Given the description of an element on the screen output the (x, y) to click on. 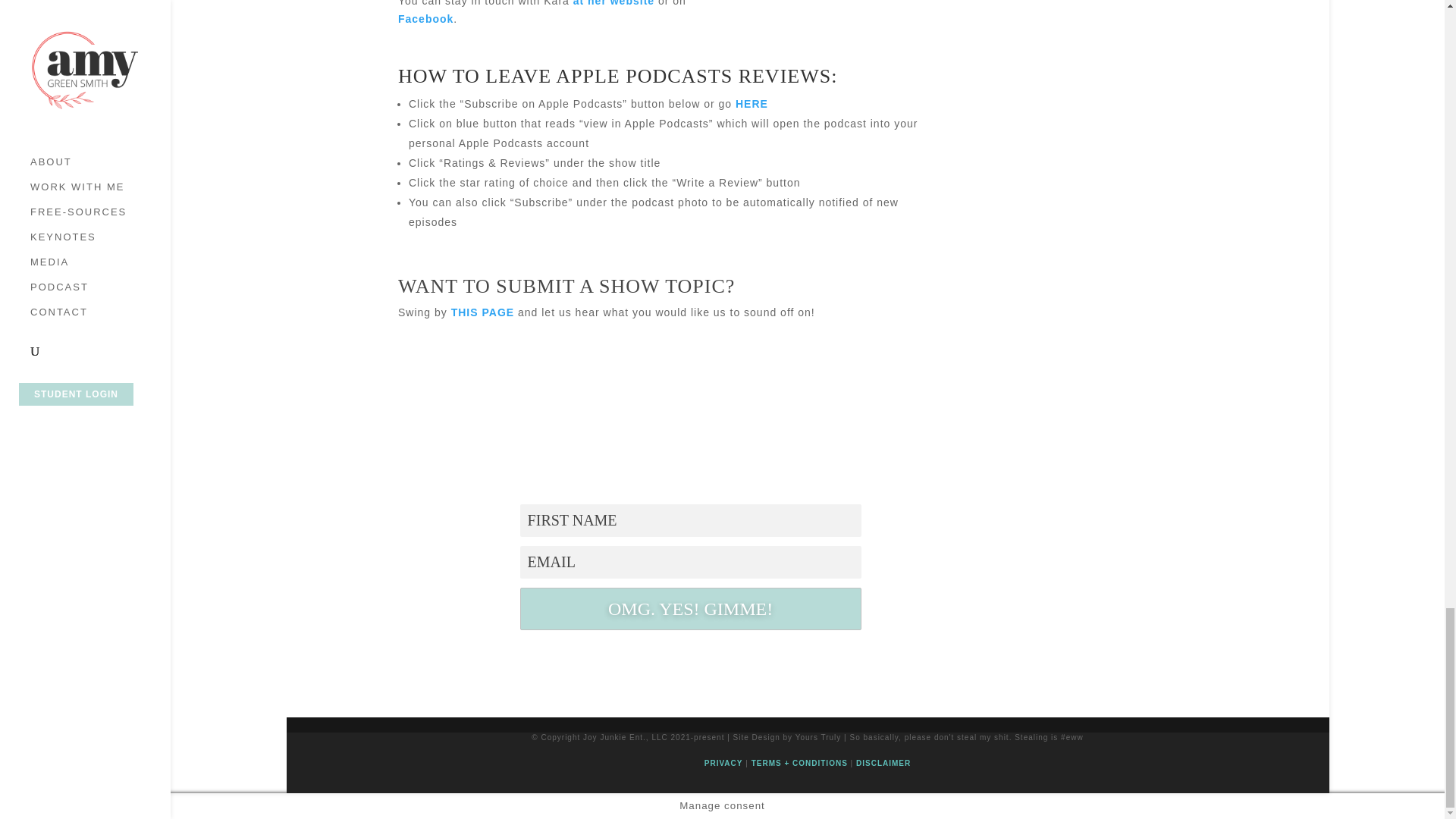
HERE (751, 103)
OMG. YES! GIMME! (690, 608)
at her website (613, 3)
Facebook (424, 19)
OMG. YES! GIMME! (690, 608)
THIS PAGE (482, 312)
